Given the description of an element on the screen output the (x, y) to click on. 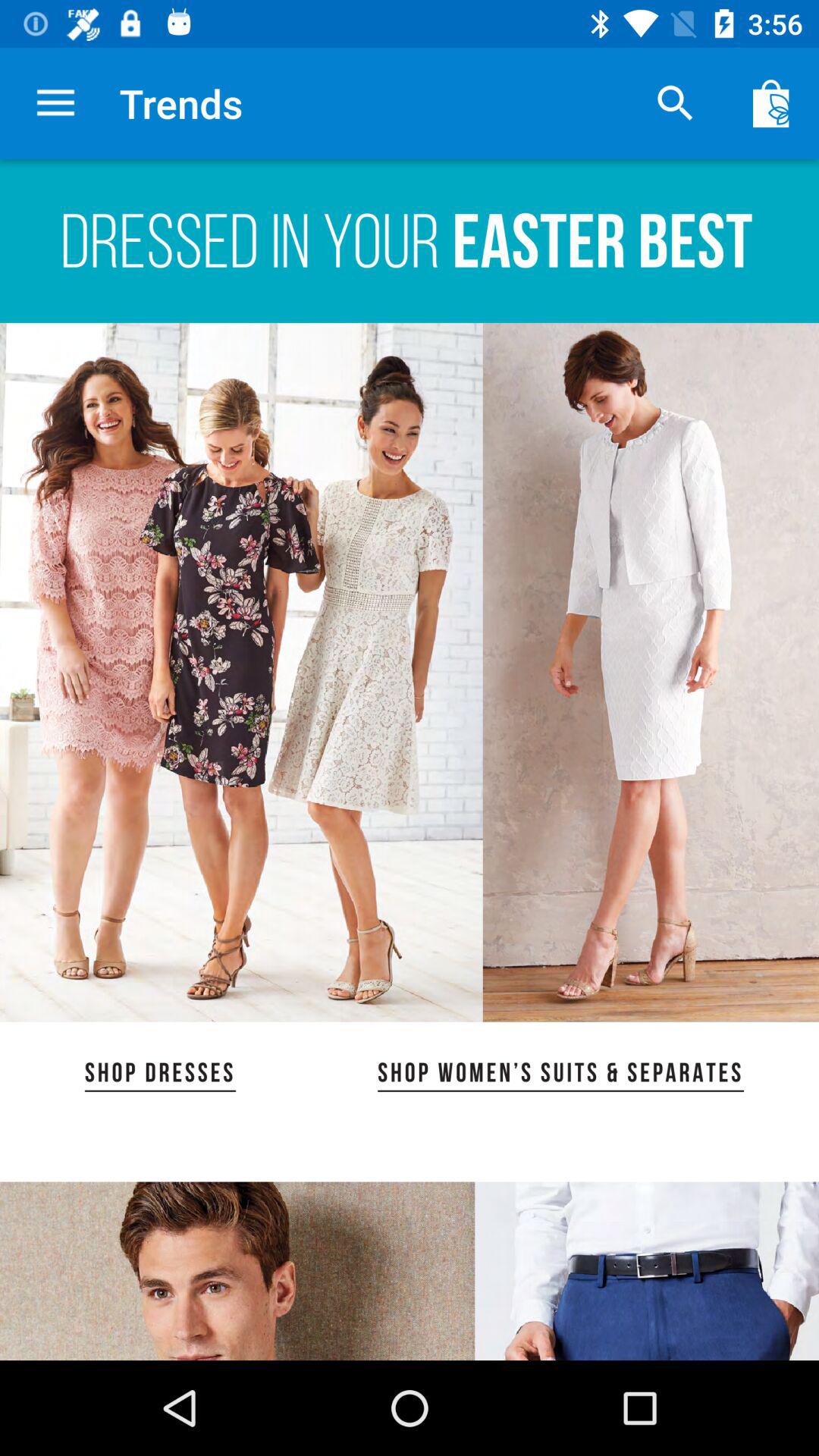
press the item to the right of the trends app (675, 103)
